Given the description of an element on the screen output the (x, y) to click on. 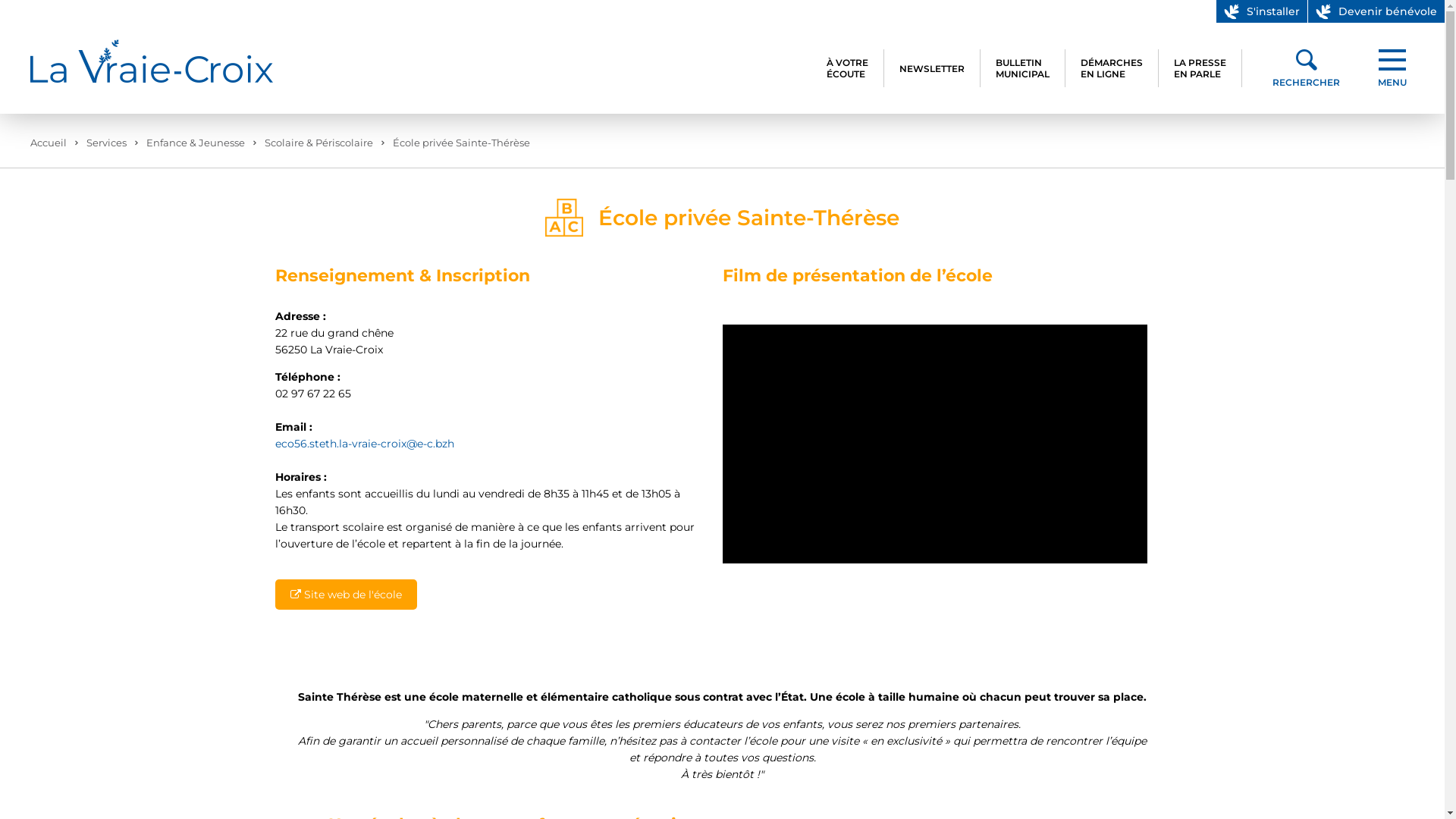
eco56.steth.la-vraie-croix@e-c.bzh Element type: text (363, 443)
Enfance & Jeunesse Element type: text (195, 142)
Services Element type: text (106, 142)
S'installer Element type: text (1261, 11)
Accueil Element type: text (48, 142)
BULLETIN
MUNICIPAL Element type: text (1022, 68)
LA PRESSE
EN PARLE Element type: text (1200, 68)
